Given the description of an element on the screen output the (x, y) to click on. 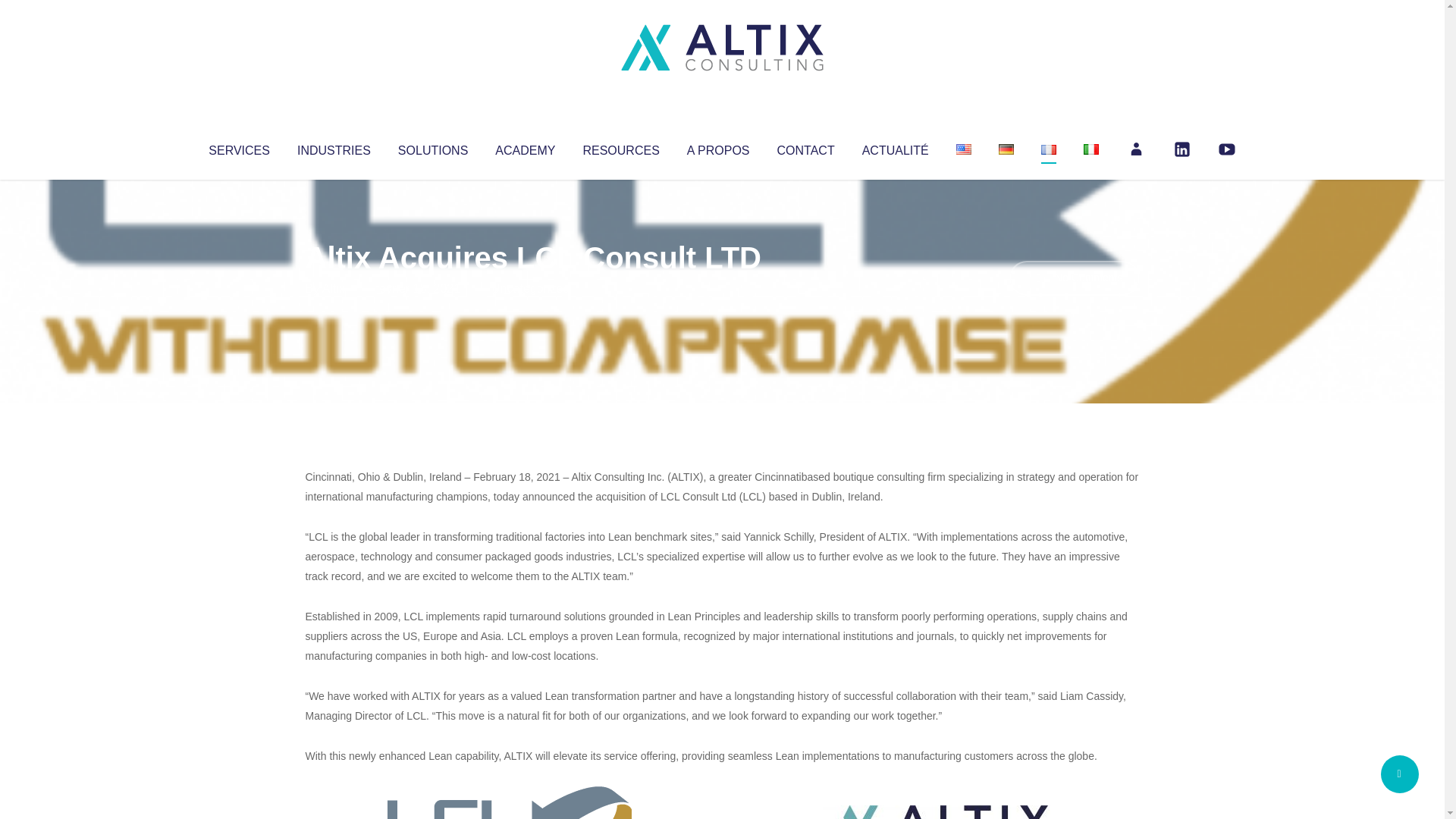
Articles par Altix (333, 287)
A PROPOS (718, 146)
INDUSTRIES (334, 146)
Uncategorized (530, 287)
SERVICES (238, 146)
ACADEMY (524, 146)
No Comments (1073, 278)
Altix (333, 287)
SOLUTIONS (432, 146)
RESOURCES (620, 146)
